Given the description of an element on the screen output the (x, y) to click on. 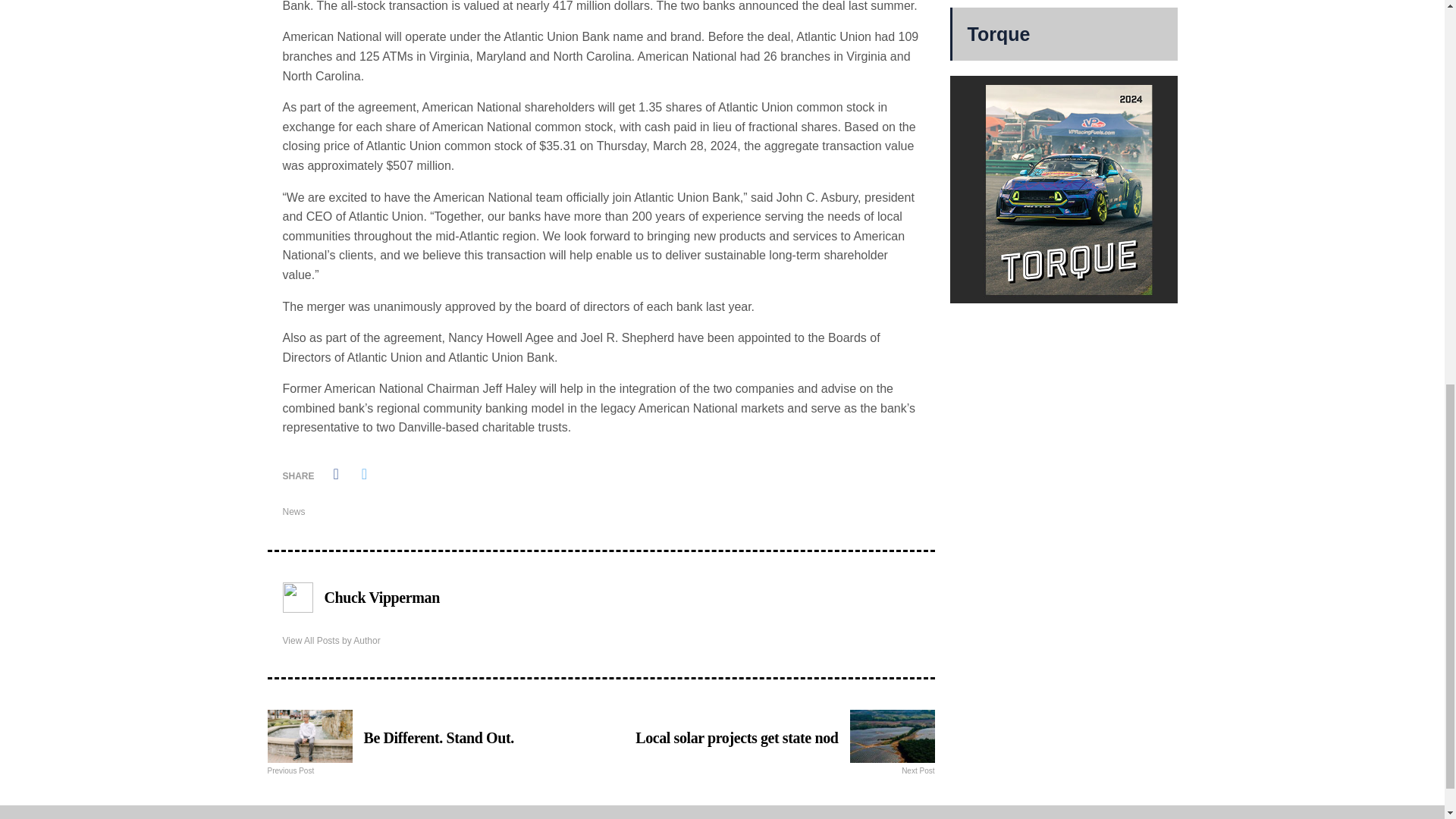
Chuck Vipperman (381, 597)
View All Posts by Author (429, 738)
News (331, 640)
